Given the description of an element on the screen output the (x, y) to click on. 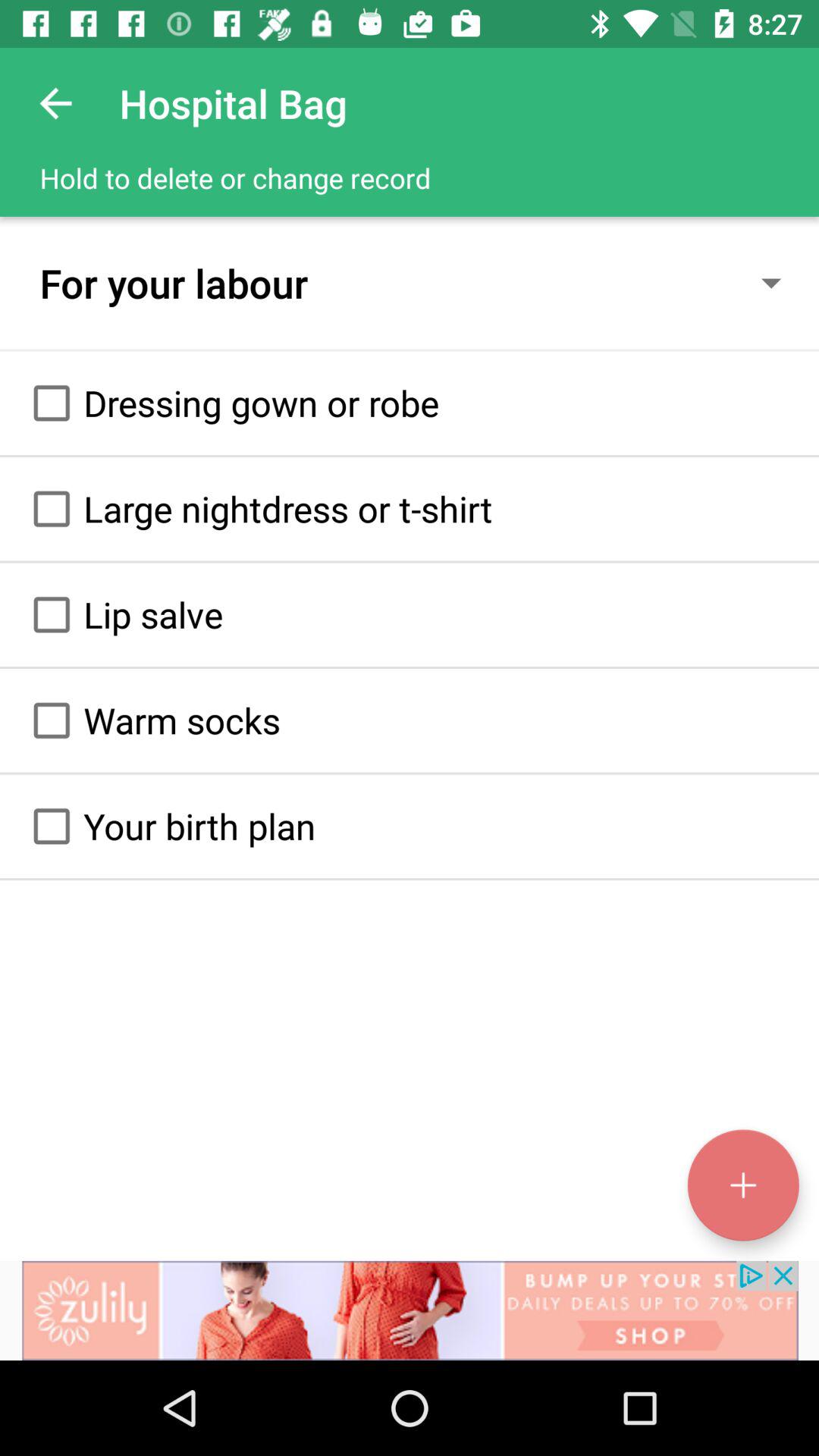
select option (51, 826)
